Given the description of an element on the screen output the (x, y) to click on. 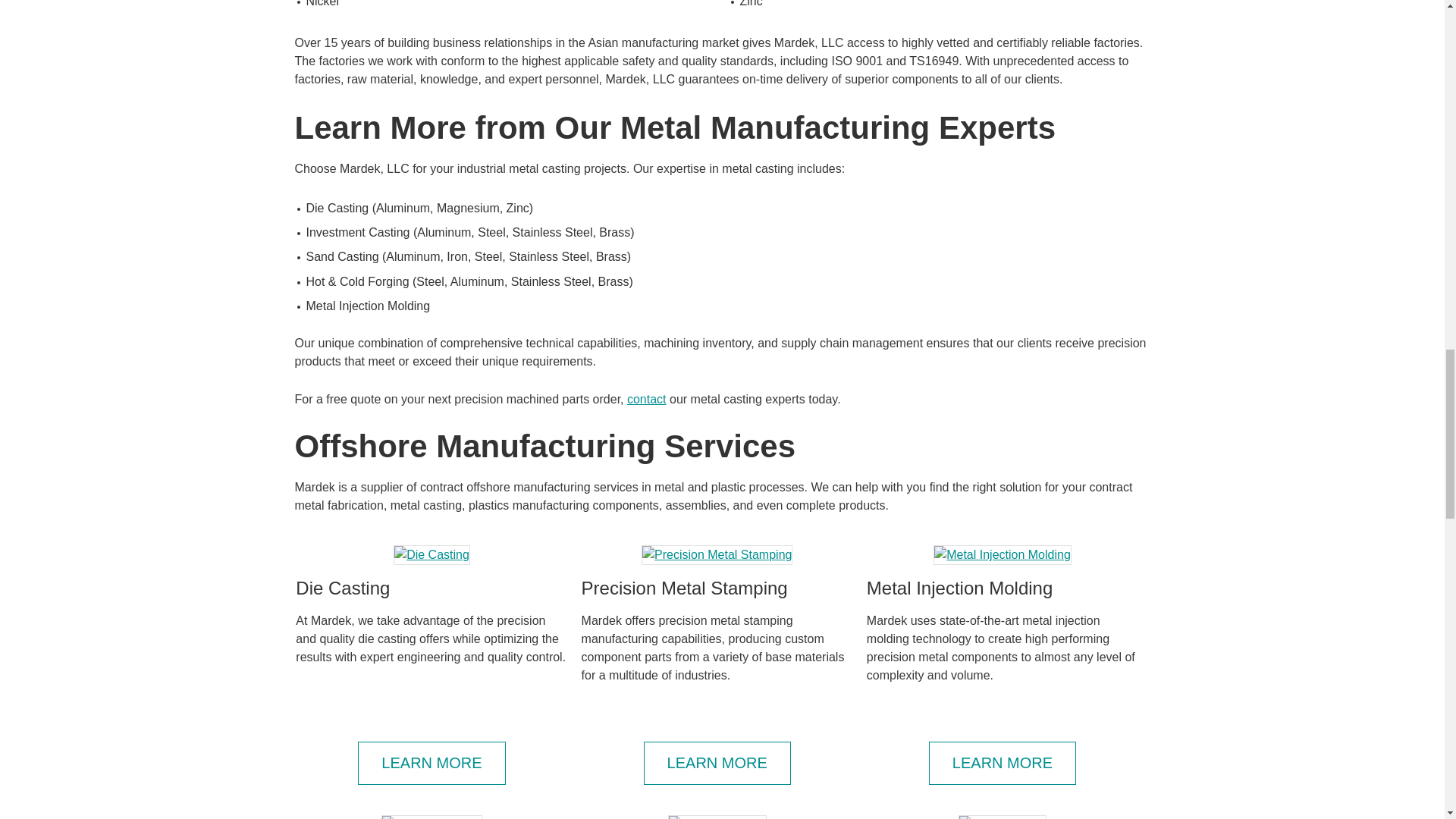
Precision Metal Stamping (717, 555)
Die Casting (431, 555)
